Given the description of an element on the screen output the (x, y) to click on. 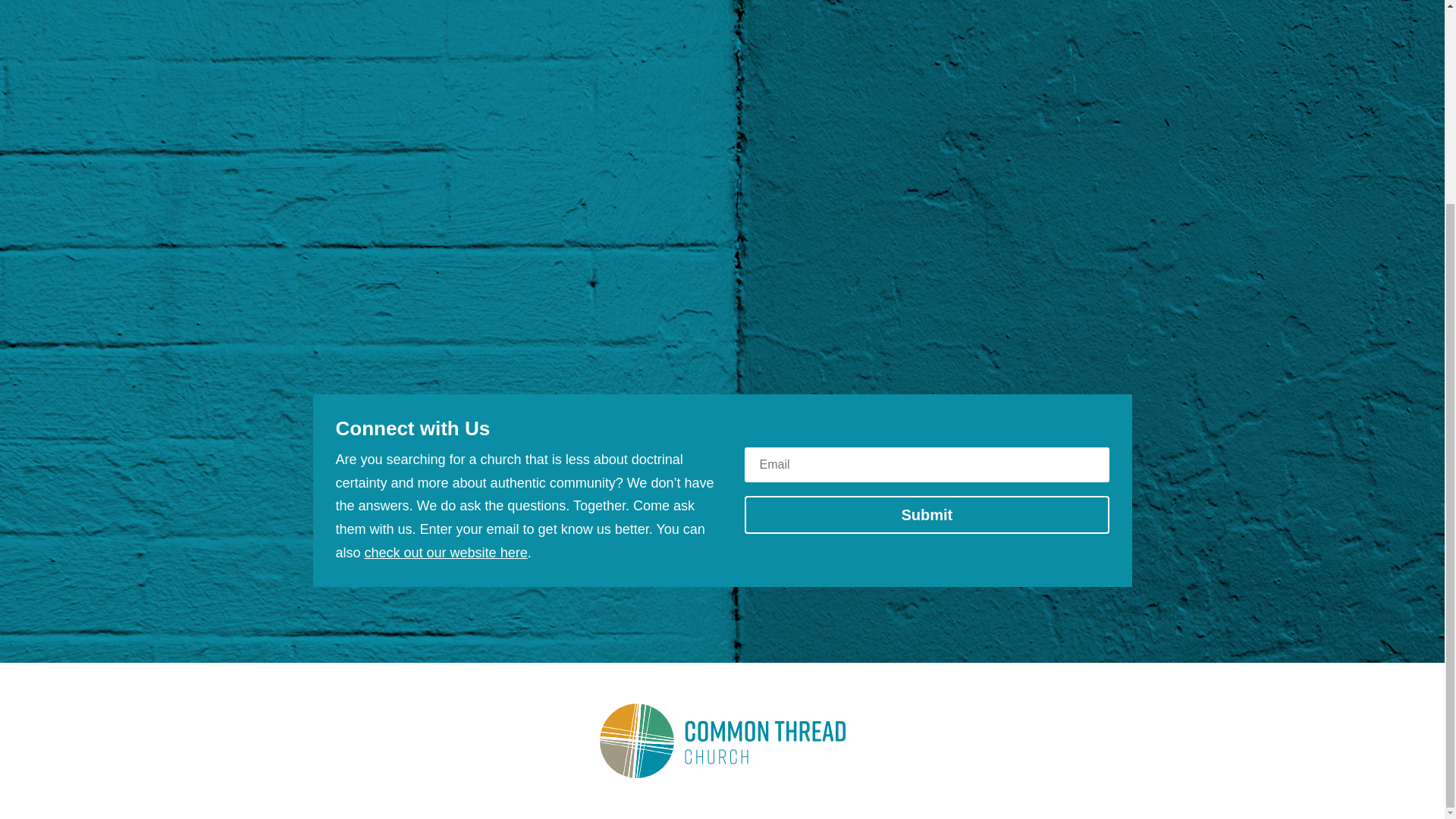
check out our website here (446, 552)
Submit (926, 514)
